Given the description of an element on the screen output the (x, y) to click on. 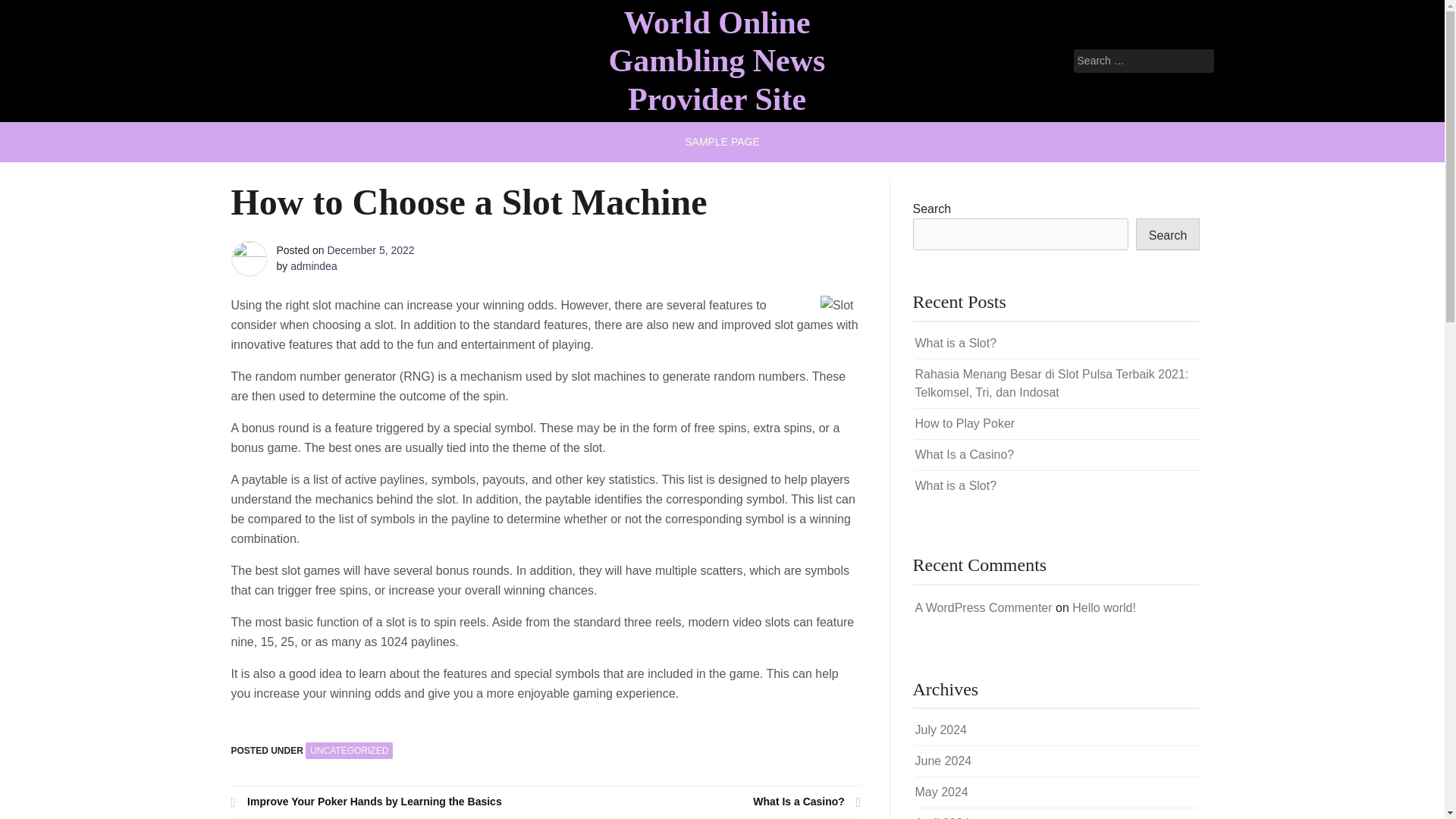
December 5, 2022 (369, 250)
World Online Gambling News Provider Site (716, 60)
SAMPLE PAGE (721, 142)
May 2024 (941, 791)
Improve Your Poker Hands by Learning the Basics (388, 801)
How to Play Poker (964, 422)
Search (1167, 234)
What Is a Casino? (963, 454)
UNCATEGORIZED (349, 750)
June 2024 (942, 760)
A WordPress Commenter (982, 607)
admindea (313, 265)
What Is a Casino? (703, 801)
July 2024 (940, 729)
